Given the description of an element on the screen output the (x, y) to click on. 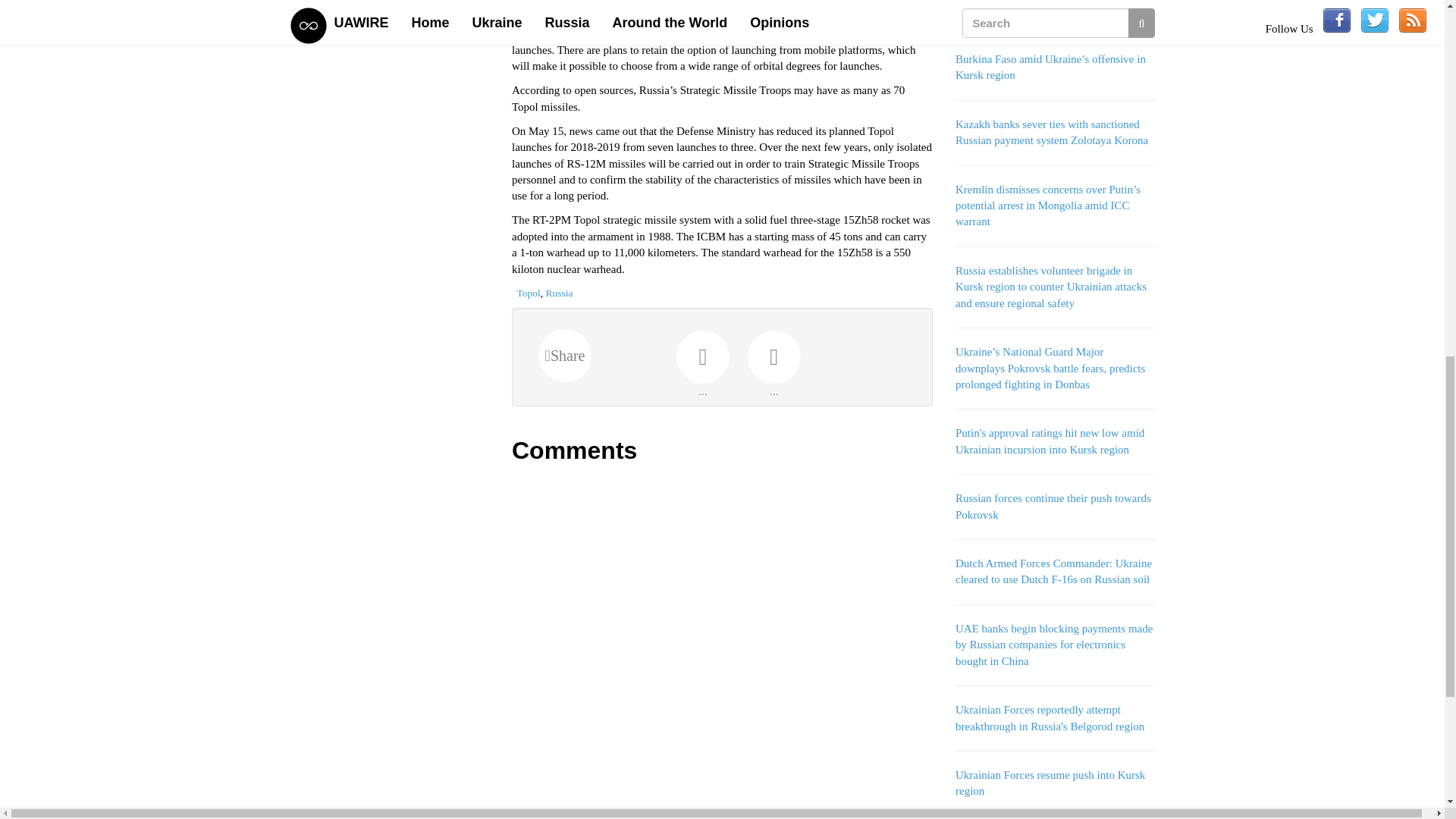
Ukrainian Forces resume push into Kursk region (1049, 782)
Russia (559, 292)
Topol (528, 292)
replacing Topols with the more modern Yars missiles (708, 25)
Russian forces continue their push towards Pokrovsk (1053, 506)
